Given the description of an element on the screen output the (x, y) to click on. 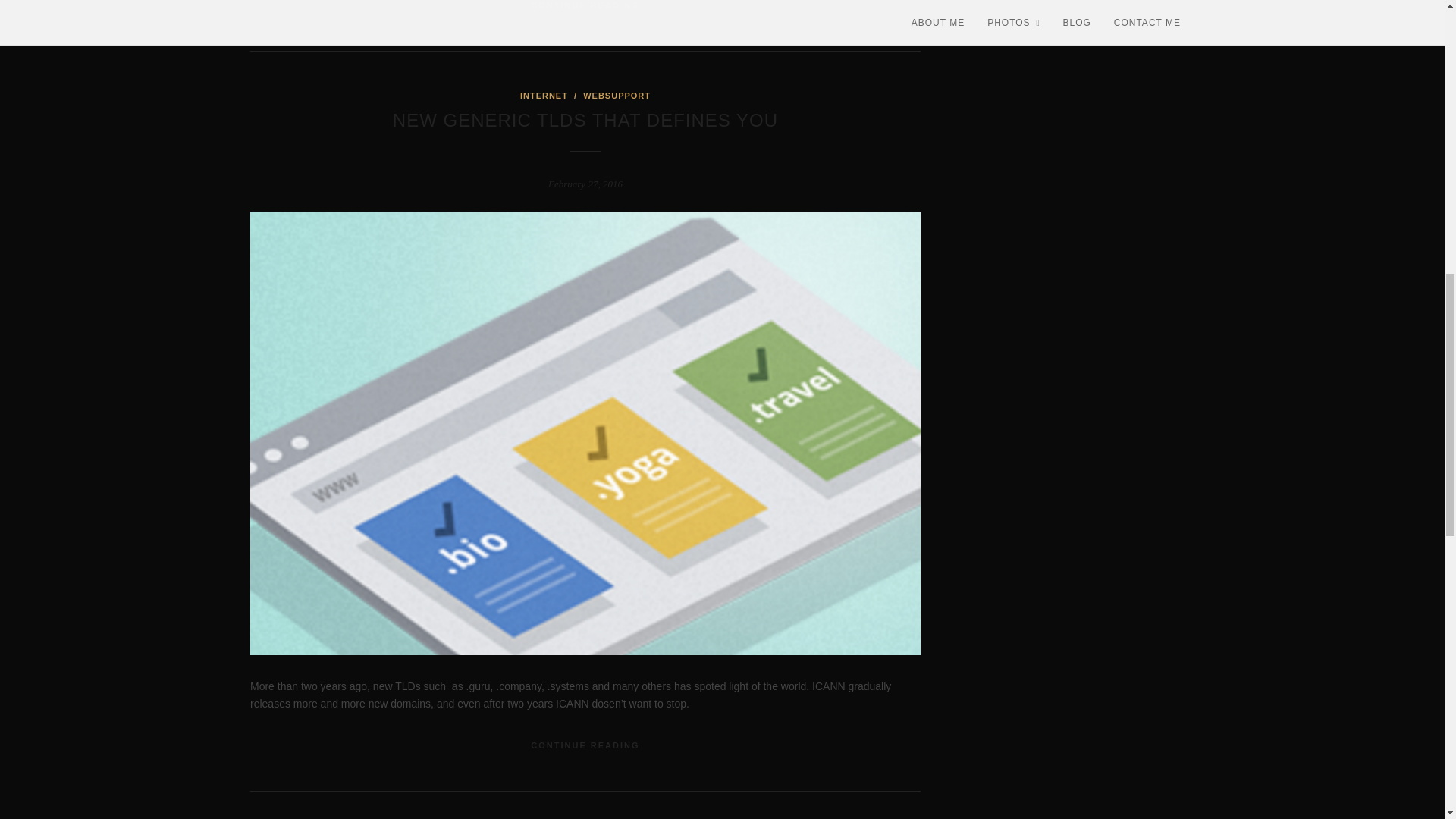
CONTINUE READING (585, 745)
CONTINUE READING (585, 4)
WEBSUPPORT (616, 94)
New generic TLDs that defines you (585, 119)
INTERNET (543, 94)
NEW GENERIC TLDS THAT DEFINES YOU (585, 119)
